Given the description of an element on the screen output the (x, y) to click on. 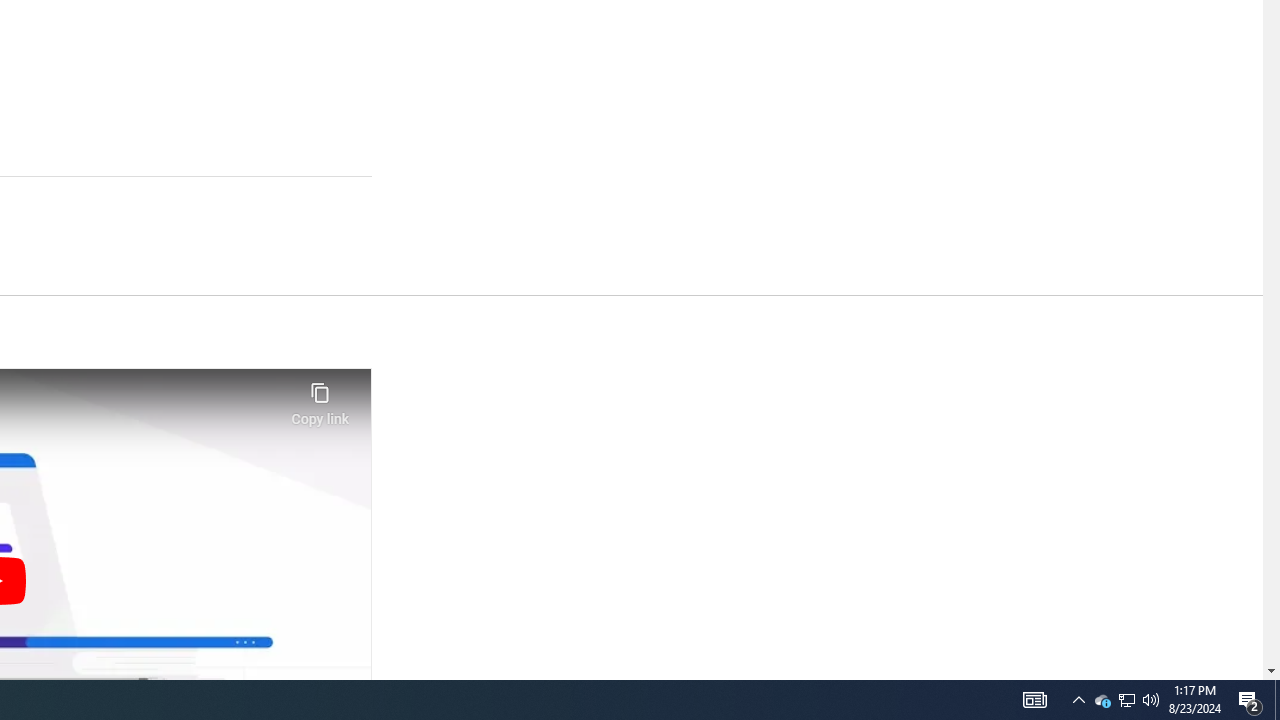
Copy link (319, 398)
